Given the description of an element on the screen output the (x, y) to click on. 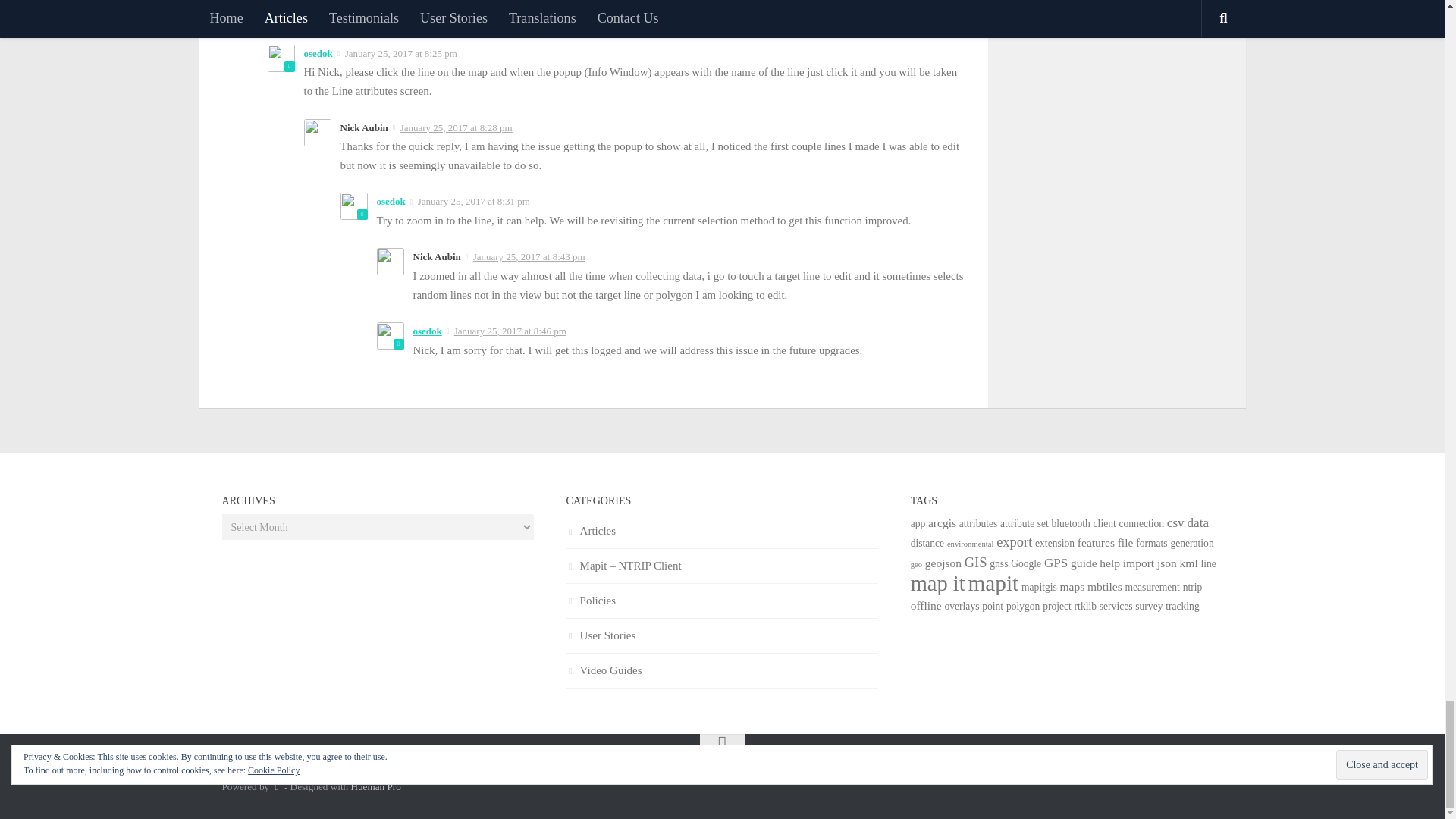
Powered by WordPress (275, 786)
Follow us on Google (1212, 774)
Hueman Pro (375, 786)
Follow us on Twitter (1184, 774)
Follow us on Facebook (1157, 774)
